Given the description of an element on the screen output the (x, y) to click on. 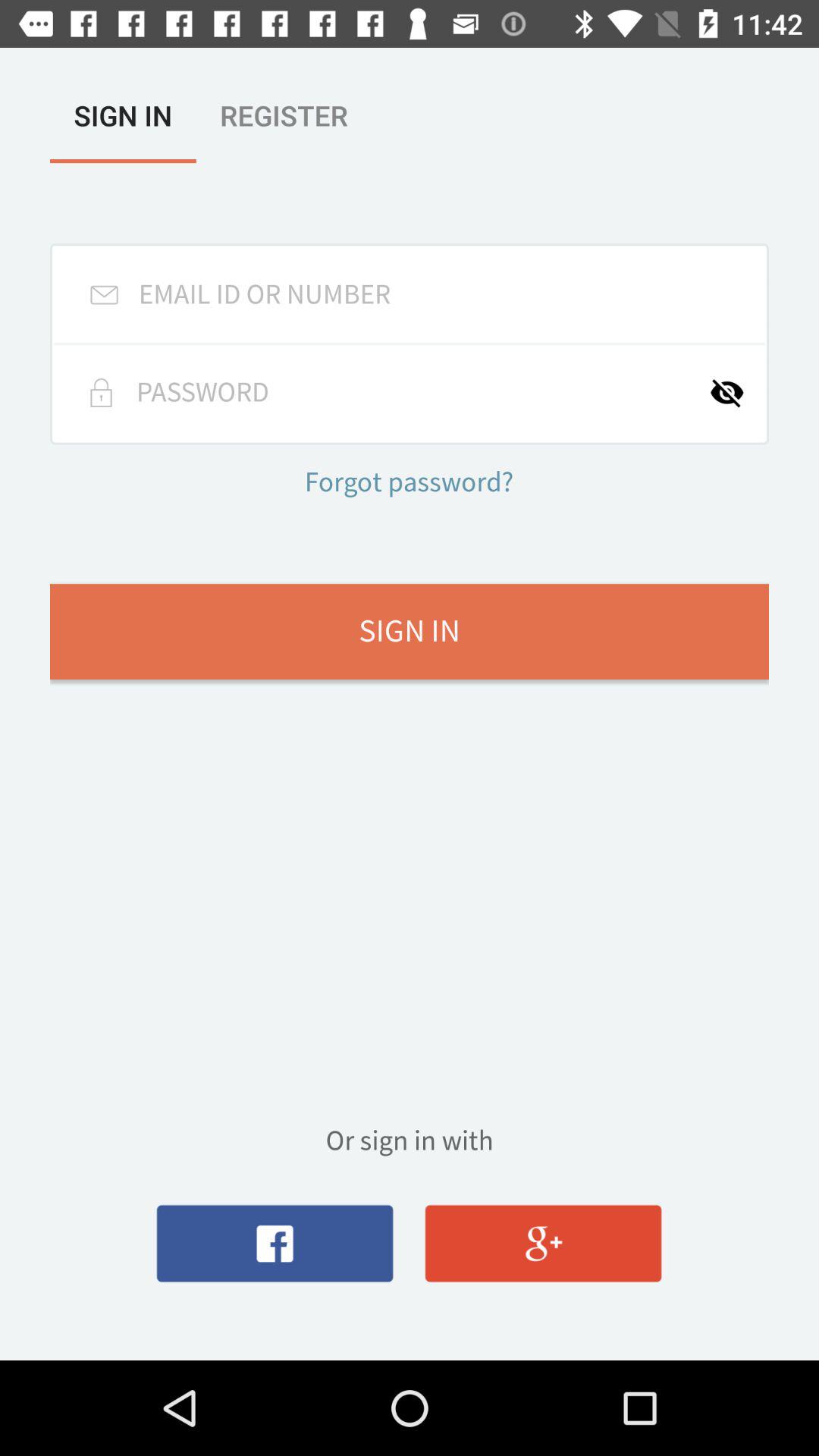
turn on the forgot password? item (408, 484)
